Given the description of an element on the screen output the (x, y) to click on. 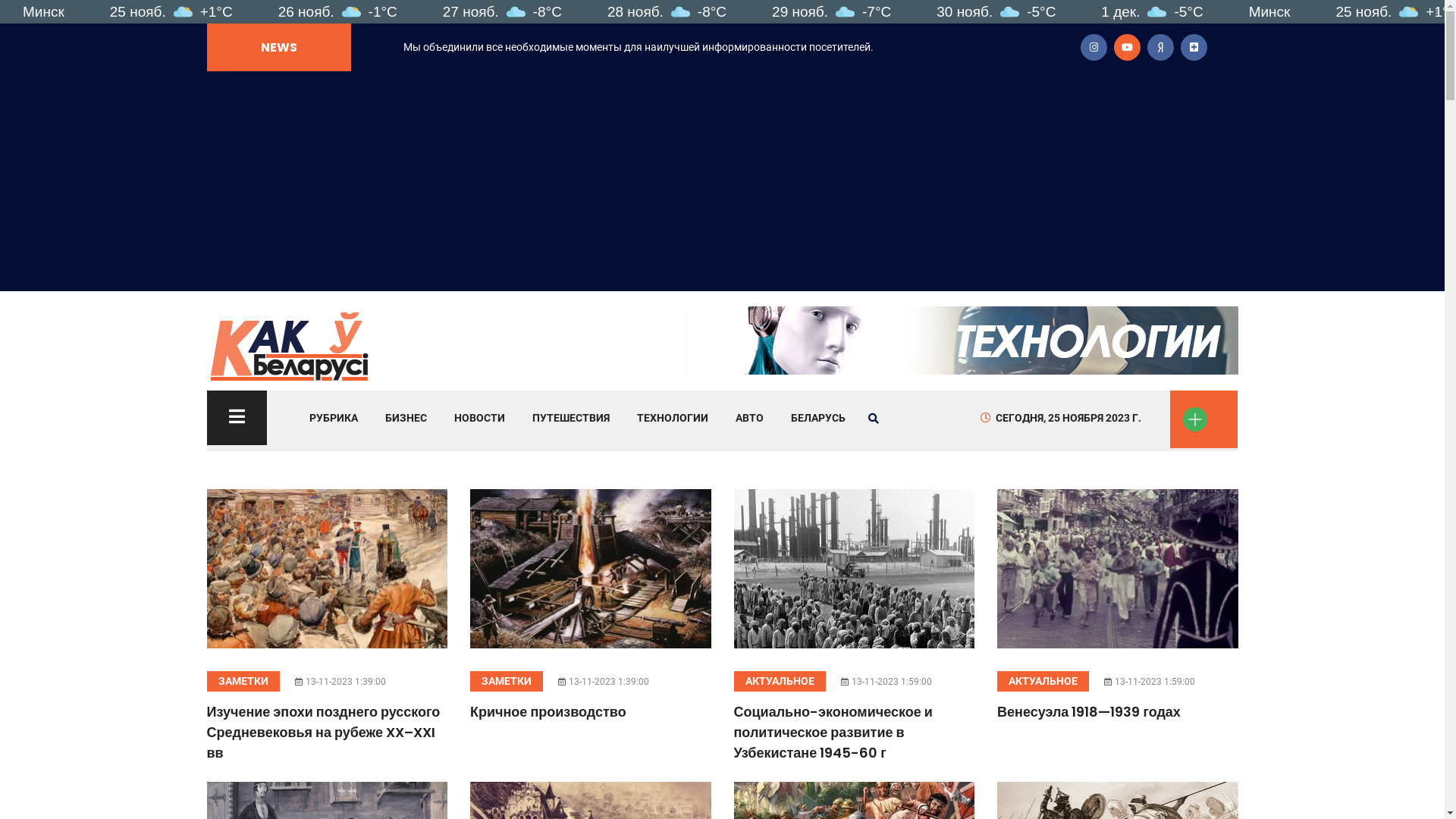
13-11-2023 1:59:00 Element type: text (887, 681)
13-11-2023 1:39:00 Element type: text (605, 681)
13-11-2023 1:59:00 Element type: text (1151, 681)
kvb.by Element type: hover (289, 344)
Advertisement Element type: hover (721, 184)
13-11-2023 1:39:00 Element type: text (341, 681)
